Given the description of an element on the screen output the (x, y) to click on. 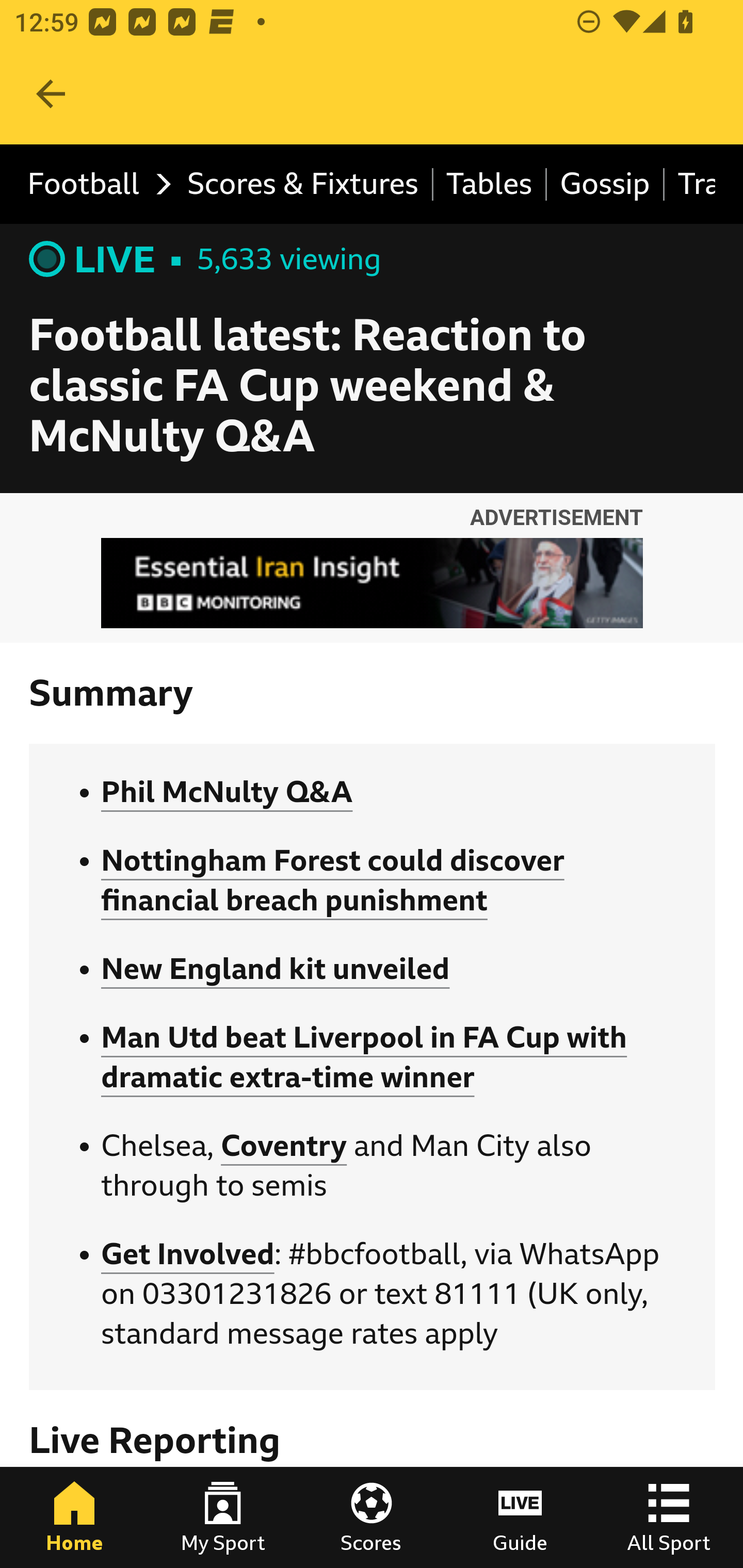
Navigate up (50, 93)
Football (94, 184)
Scores & Fixtures (303, 184)
Tables (490, 184)
Gossip (605, 184)
Phil McNulty Q&A (227, 792)
New England kit unveiled (276, 969)
Coventry (284, 1145)
Get Involved (187, 1254)
My Sport (222, 1517)
Scores (371, 1517)
Guide (519, 1517)
All Sport (668, 1517)
